Given the description of an element on the screen output the (x, y) to click on. 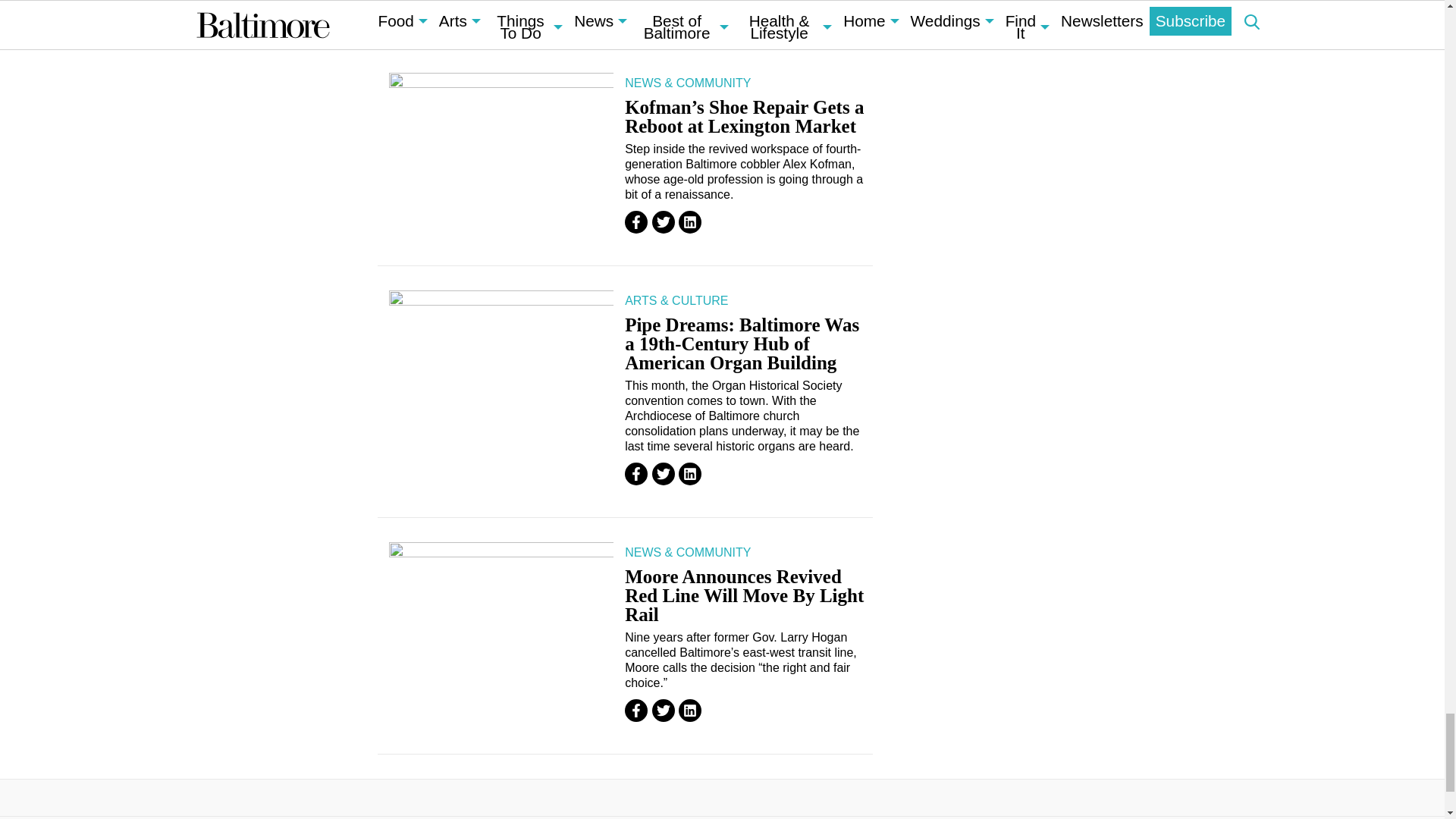
A Native, Floating Marshland is Alive on the Inner Harbor (500, 3)
